Given the description of an element on the screen output the (x, y) to click on. 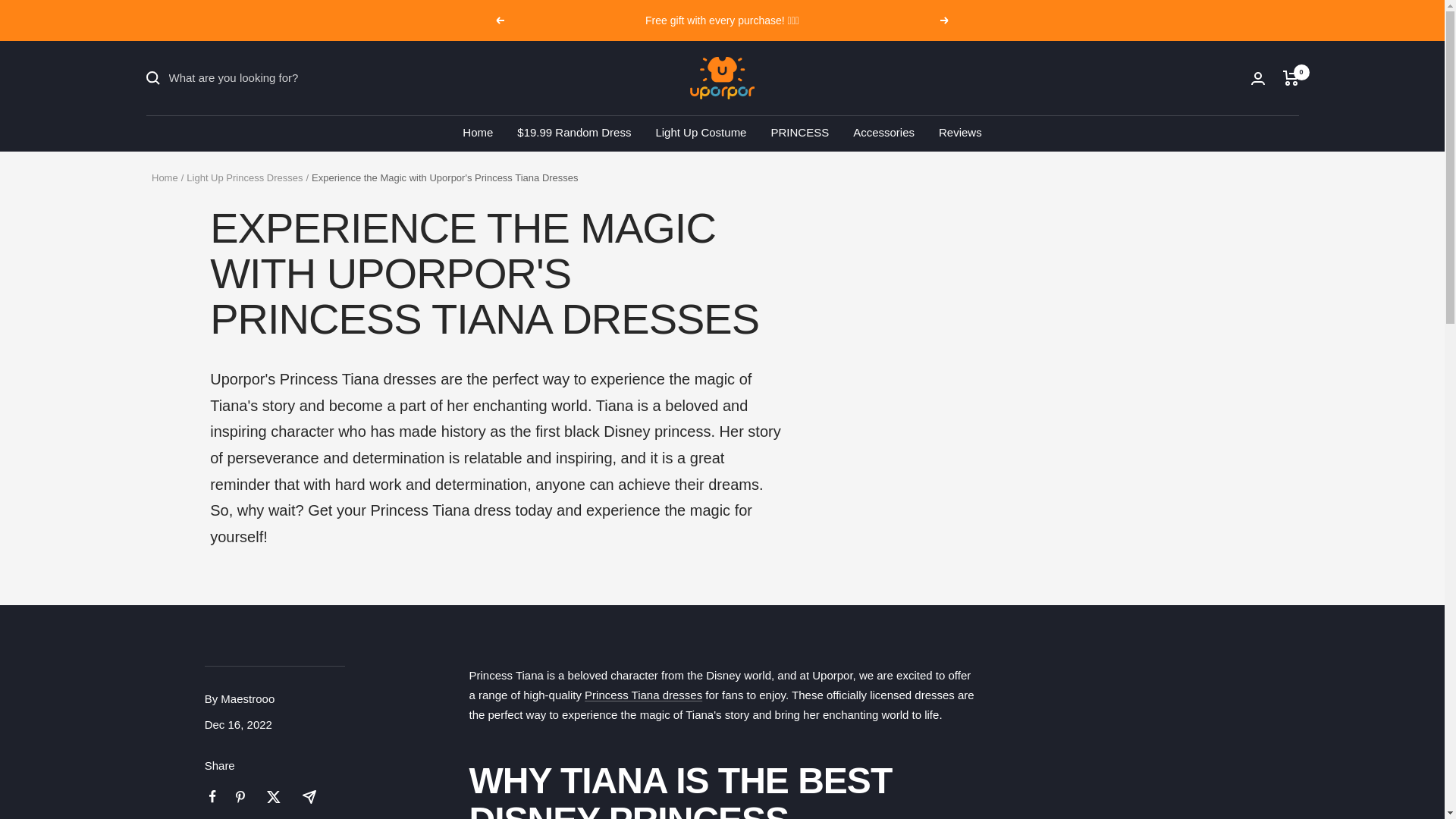
0 (1290, 77)
Princess Tiana dresses (643, 694)
Uporpor (722, 77)
Home (478, 132)
Light Up Costume (700, 132)
PRINCESS (799, 132)
Accessories (883, 132)
Home (164, 177)
Reviews (960, 132)
Next (944, 20)
